Given the description of an element on the screen output the (x, y) to click on. 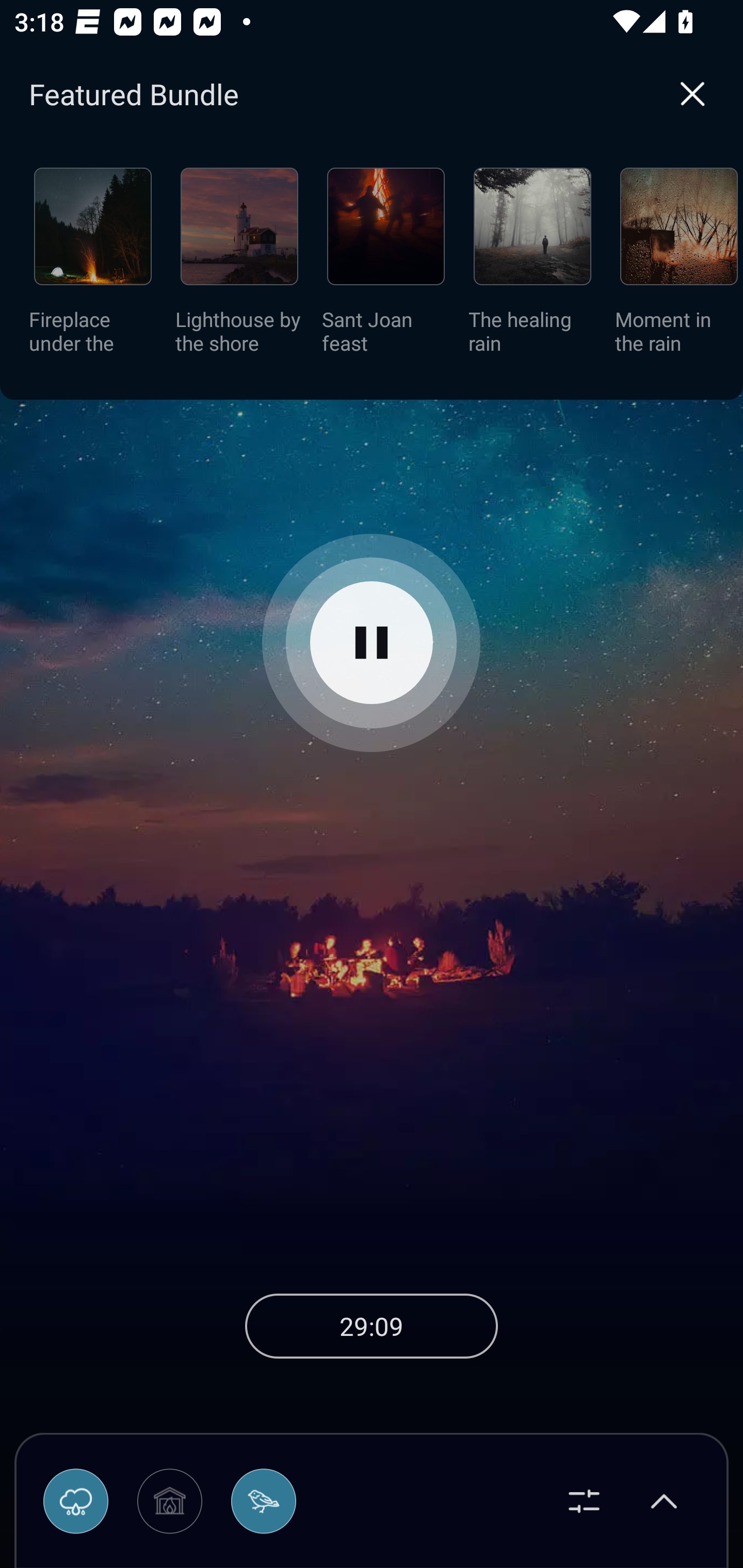
Fireplace under the milky way (92, 267)
Lighthouse by the shore (239, 267)
Sant Joan feast (385, 267)
The healing rain (532, 267)
Moment in the rain (679, 267)
29:09 (371, 1325)
